Given the description of an element on the screen output the (x, y) to click on. 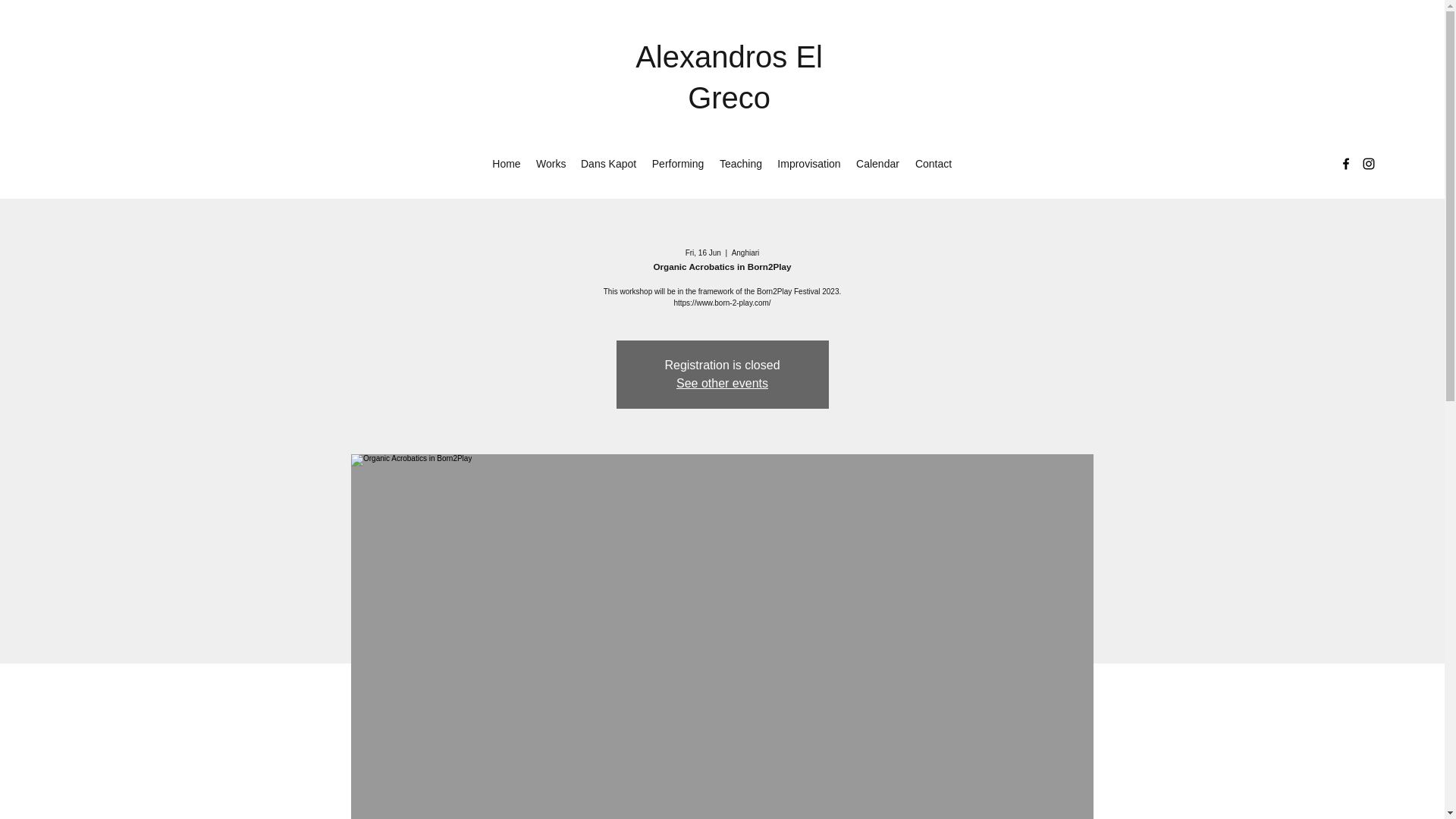
Home (506, 163)
Dans Kapot (608, 163)
Calendar (877, 163)
Contact (933, 163)
Alexandros El Greco (728, 77)
Improvisation (809, 163)
Performing (677, 163)
Works (550, 163)
See other events (722, 382)
Teaching (740, 163)
